Given the description of an element on the screen output the (x, y) to click on. 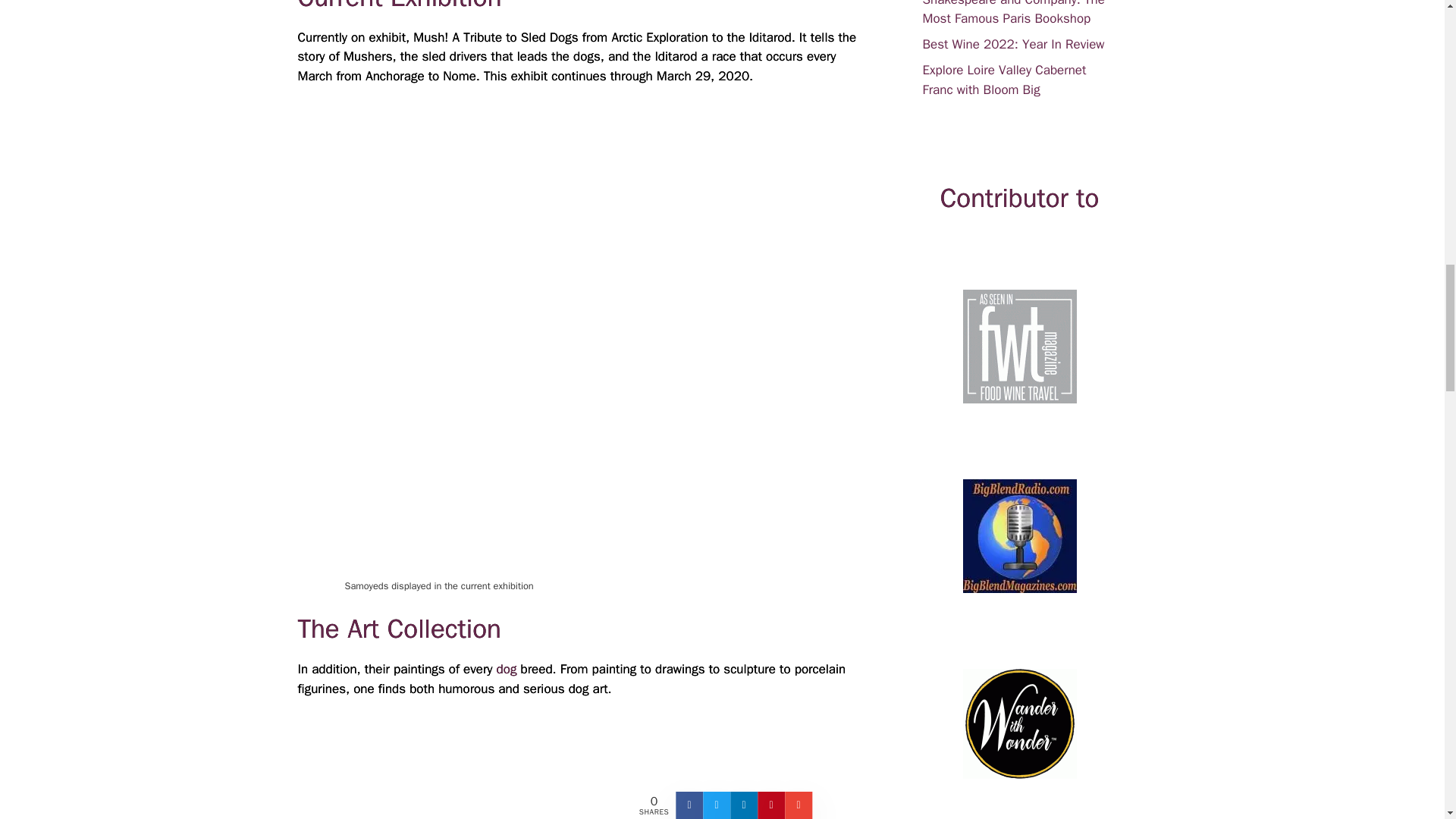
dog (506, 668)
Wonder thw World (1019, 723)
Blig Blend Magazines (1019, 535)
